Given the description of an element on the screen output the (x, y) to click on. 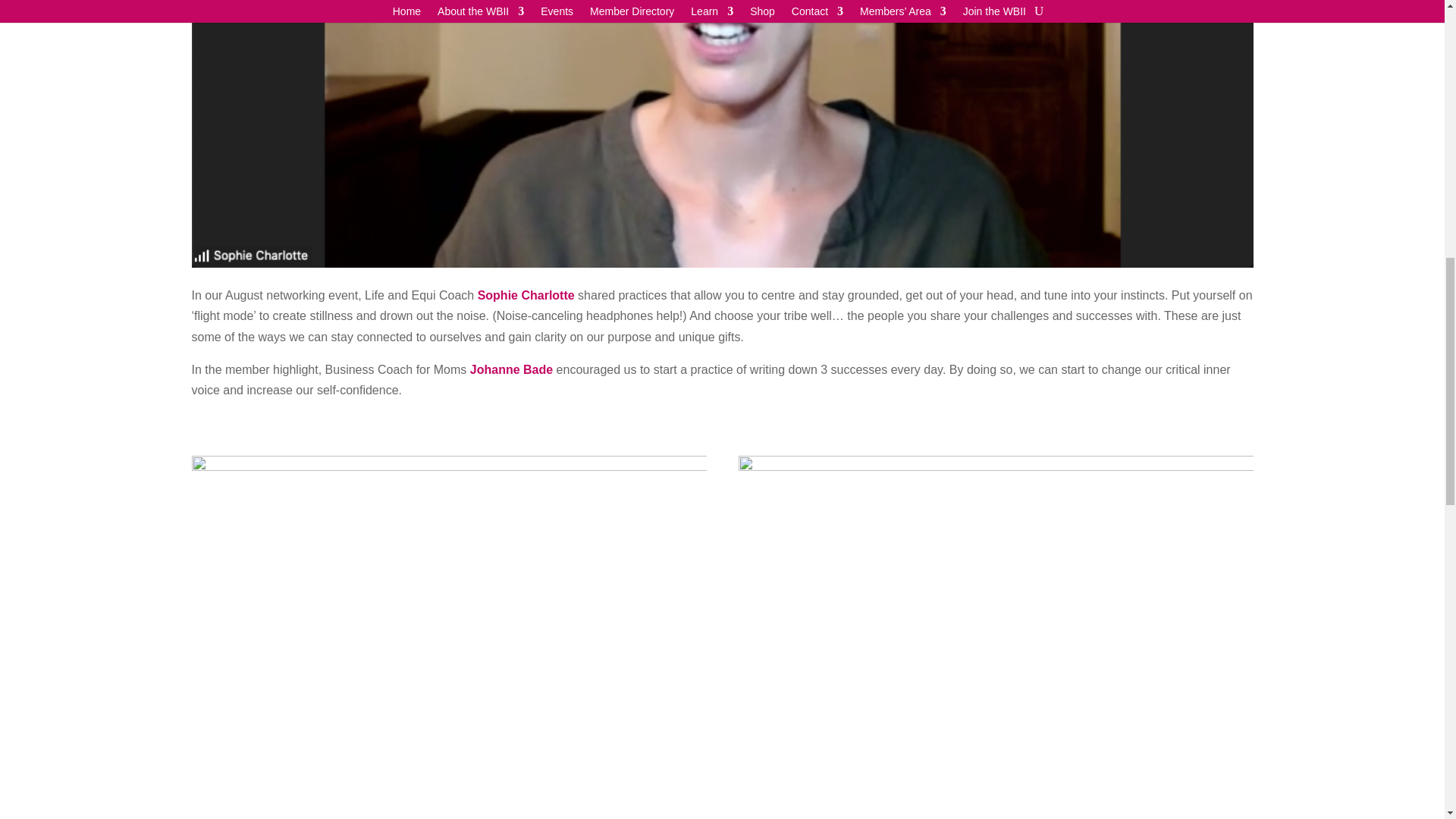
Sophie Charlotte (526, 295)
Johanne Bade (511, 369)
